Given the description of an element on the screen output the (x, y) to click on. 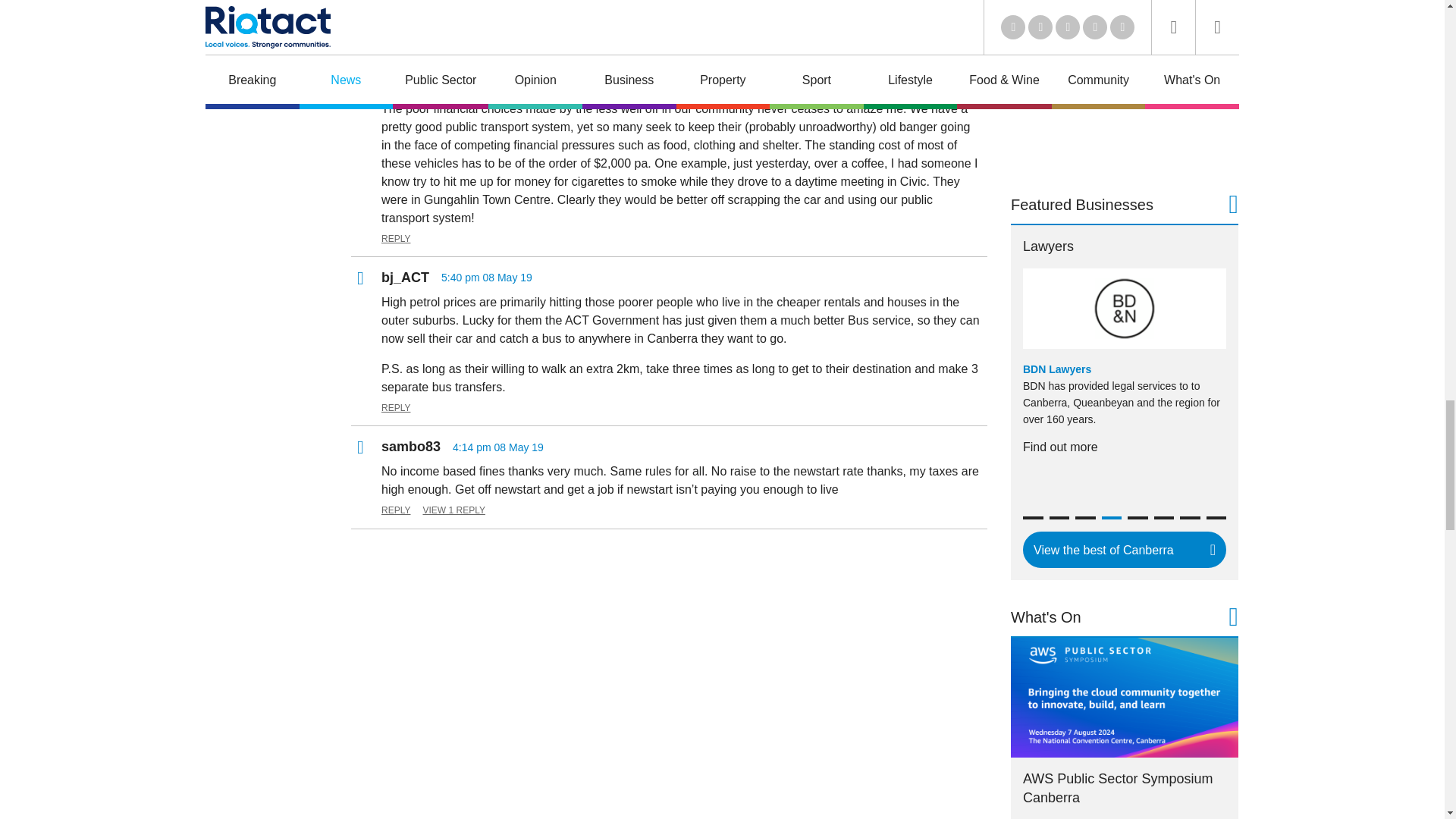
3rd party ad content (1124, 83)
